Given the description of an element on the screen output the (x, y) to click on. 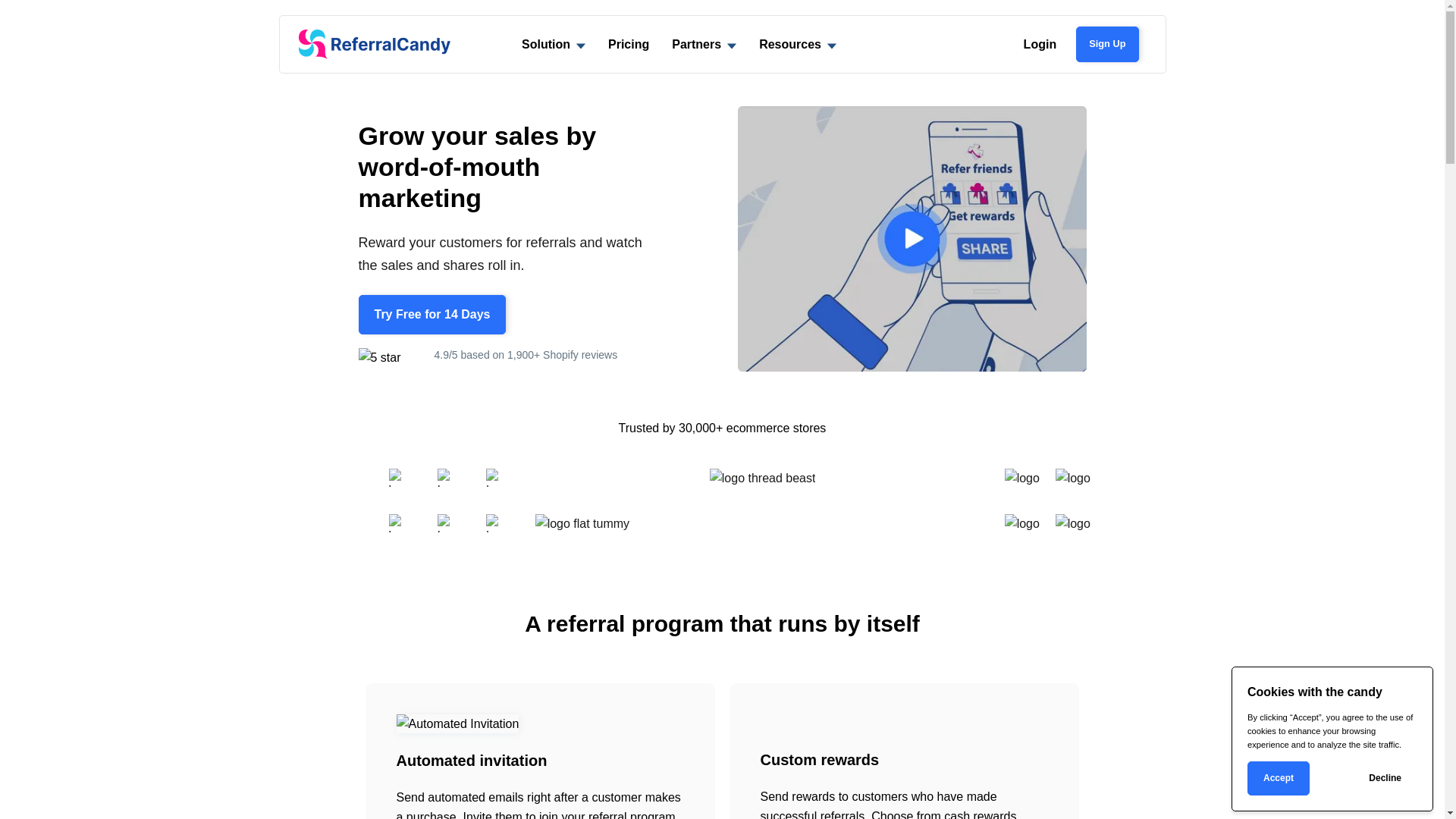
Try Free for 14 Days Element type: text (431, 314)
Login Element type: text (1040, 43)
Decline Element type: text (1384, 778)
Pricing Element type: text (628, 43)
Sign Up Element type: text (1107, 43)
Accept Element type: text (1278, 778)
